Given the description of an element on the screen output the (x, y) to click on. 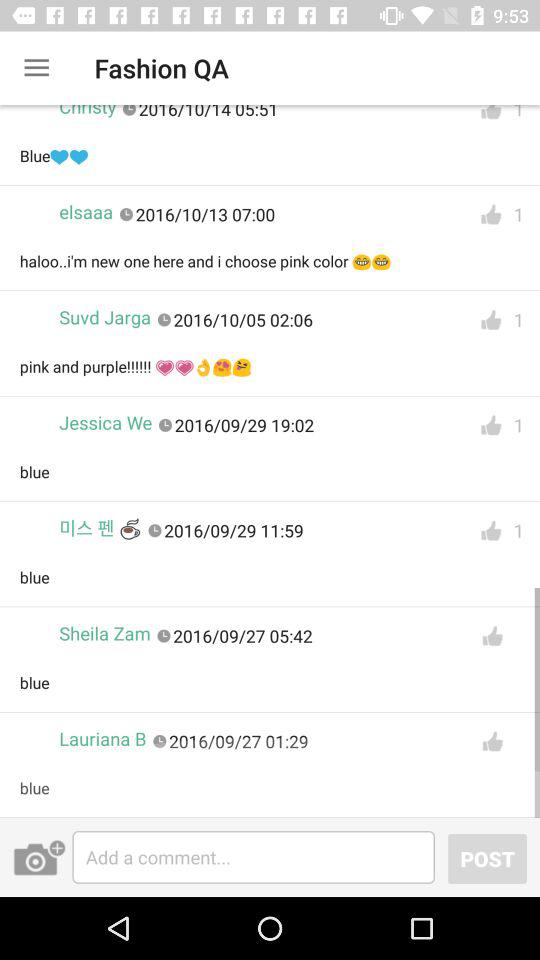
click the jessica we item (105, 422)
